Given the description of an element on the screen output the (x, y) to click on. 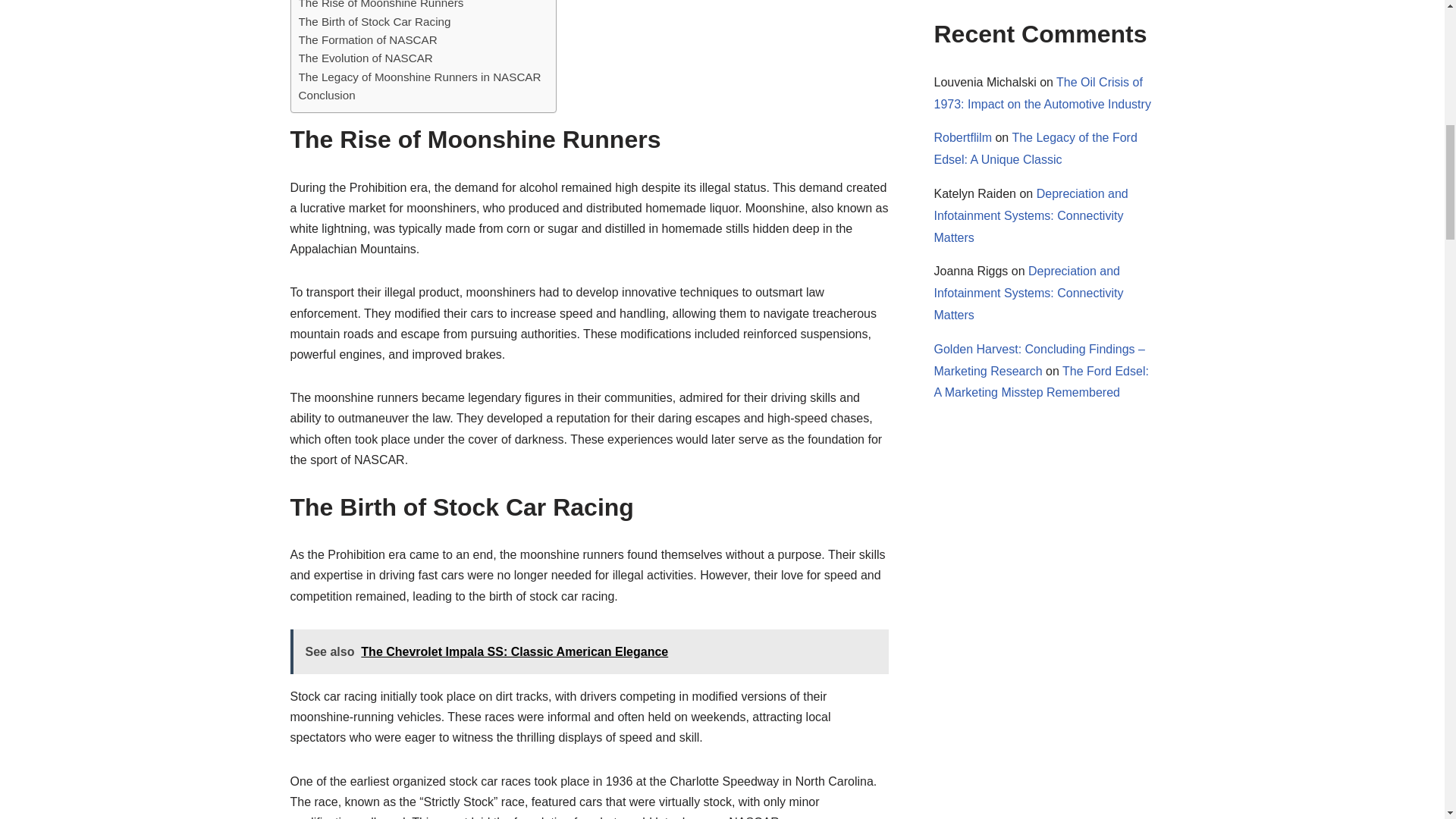
The Evolution of NASCAR (365, 58)
The Rise of Moonshine Runners (381, 6)
The Birth of Stock Car Racing (374, 22)
The Formation of NASCAR (368, 40)
Conclusion (326, 95)
The Legacy of Moonshine Runners in NASCAR (419, 76)
